Given the description of an element on the screen output the (x, y) to click on. 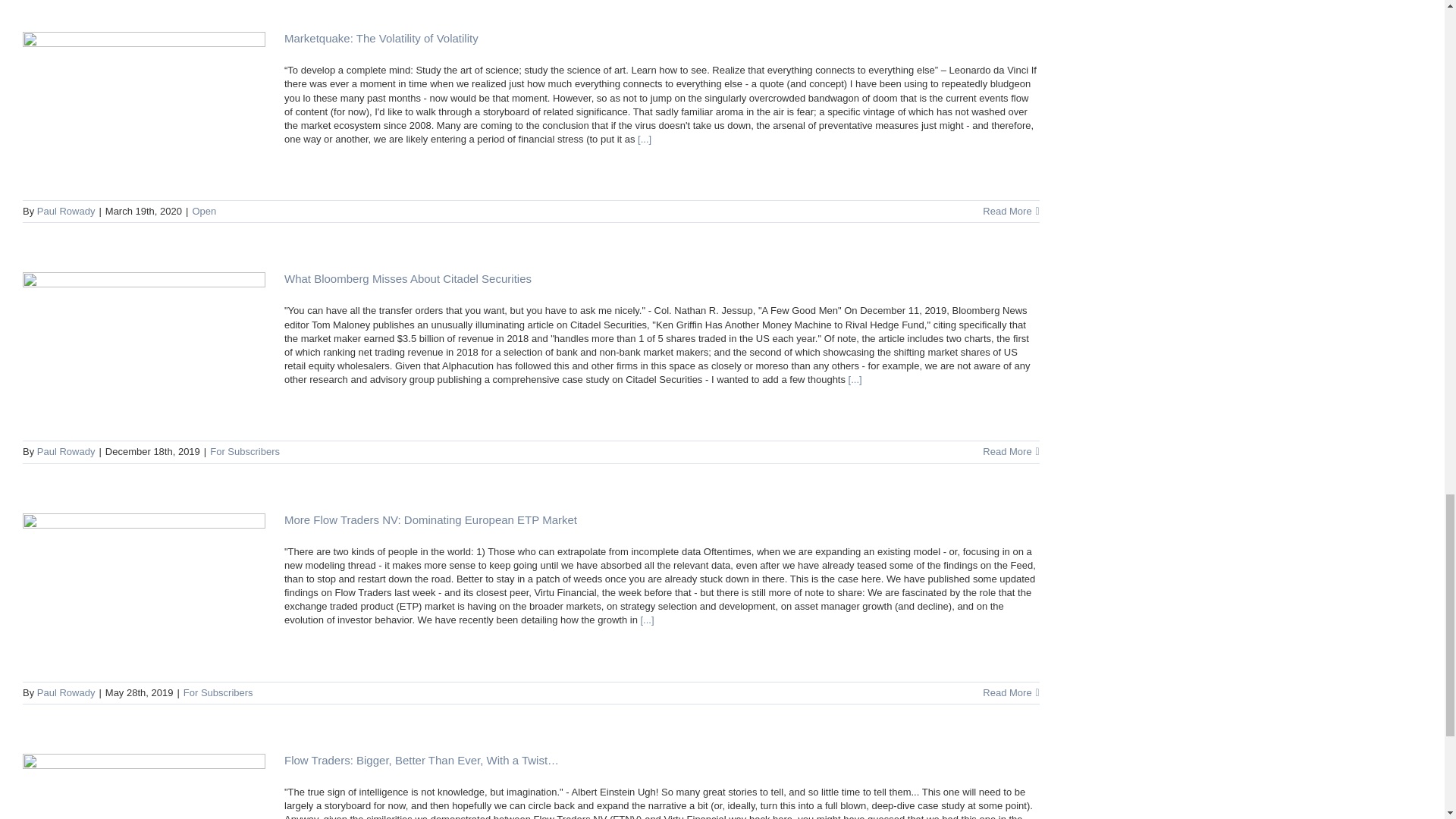
Posts by Paul Rowady (66, 451)
Posts by Paul Rowady (66, 211)
Posts by Paul Rowady (66, 692)
